Given the description of an element on the screen output the (x, y) to click on. 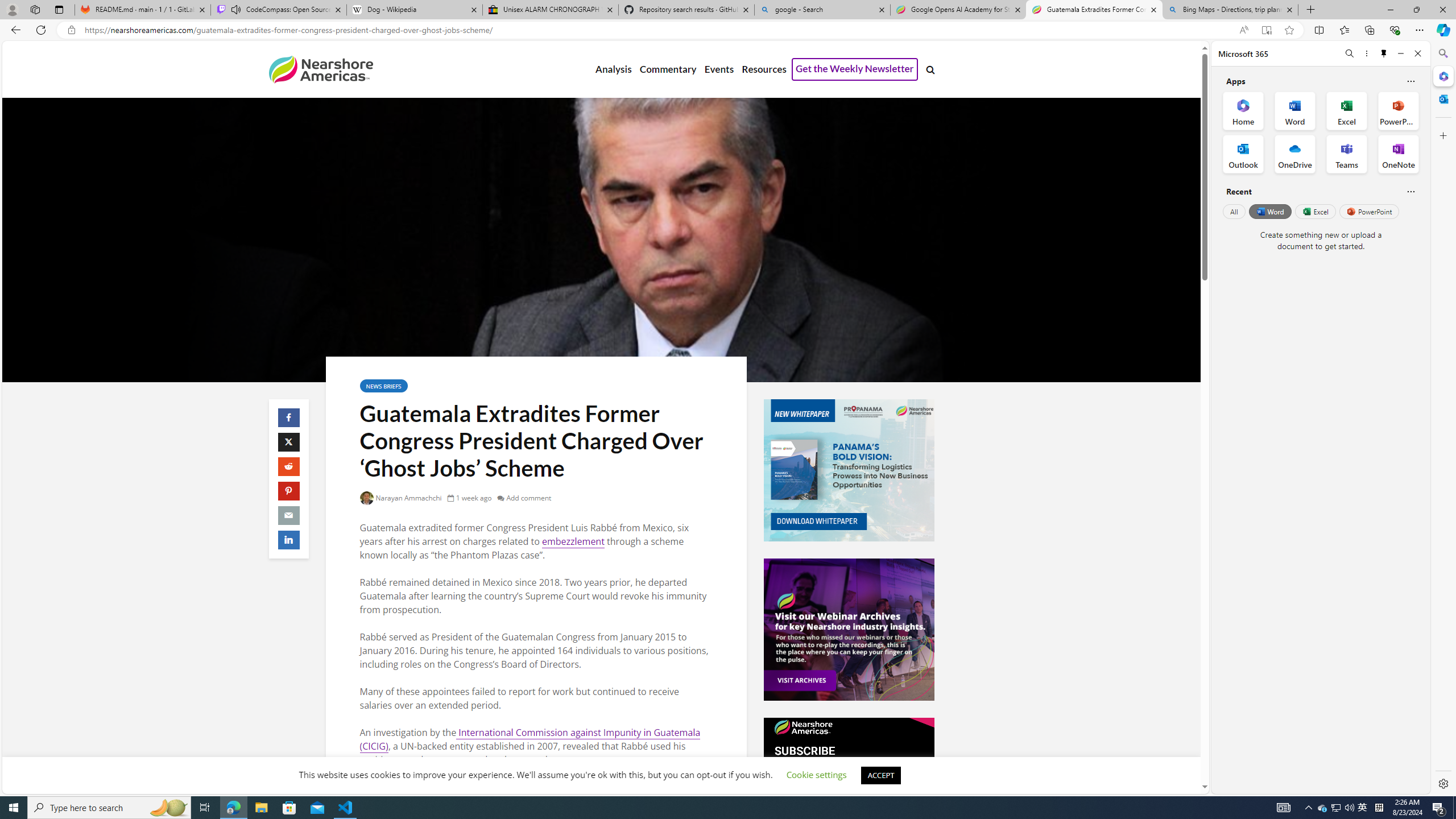
Commentary (667, 69)
Is this helpful? (1410, 191)
Narayan Ammachchi (400, 497)
Word (1269, 210)
Nearshore Americas (319, 68)
Excel (1315, 210)
Dog - Wikipedia (414, 9)
